Given the description of an element on the screen output the (x, y) to click on. 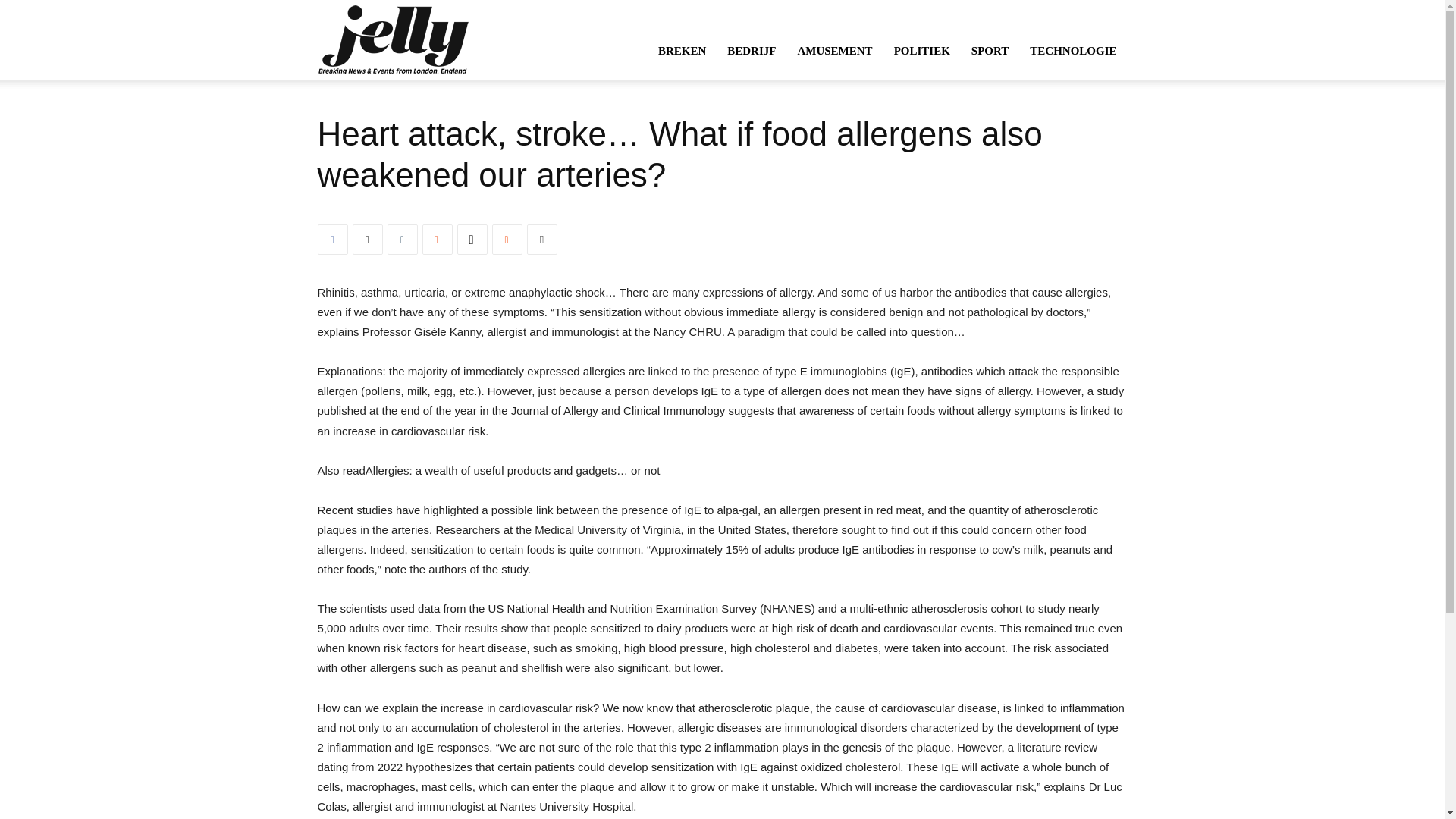
AMUSEMENT (834, 50)
Tumblr (401, 239)
Afdrukken (540, 239)
BREKEN (681, 50)
ReddIt (506, 239)
Twitter (366, 239)
Digg (471, 239)
Jelly Nieuws (392, 39)
BEDRIJF (751, 50)
Mix (436, 239)
TECHNOLOGIE (1072, 50)
POLITIEK (921, 50)
SPORT (989, 50)
Facebook (332, 239)
